Given the description of an element on the screen output the (x, y) to click on. 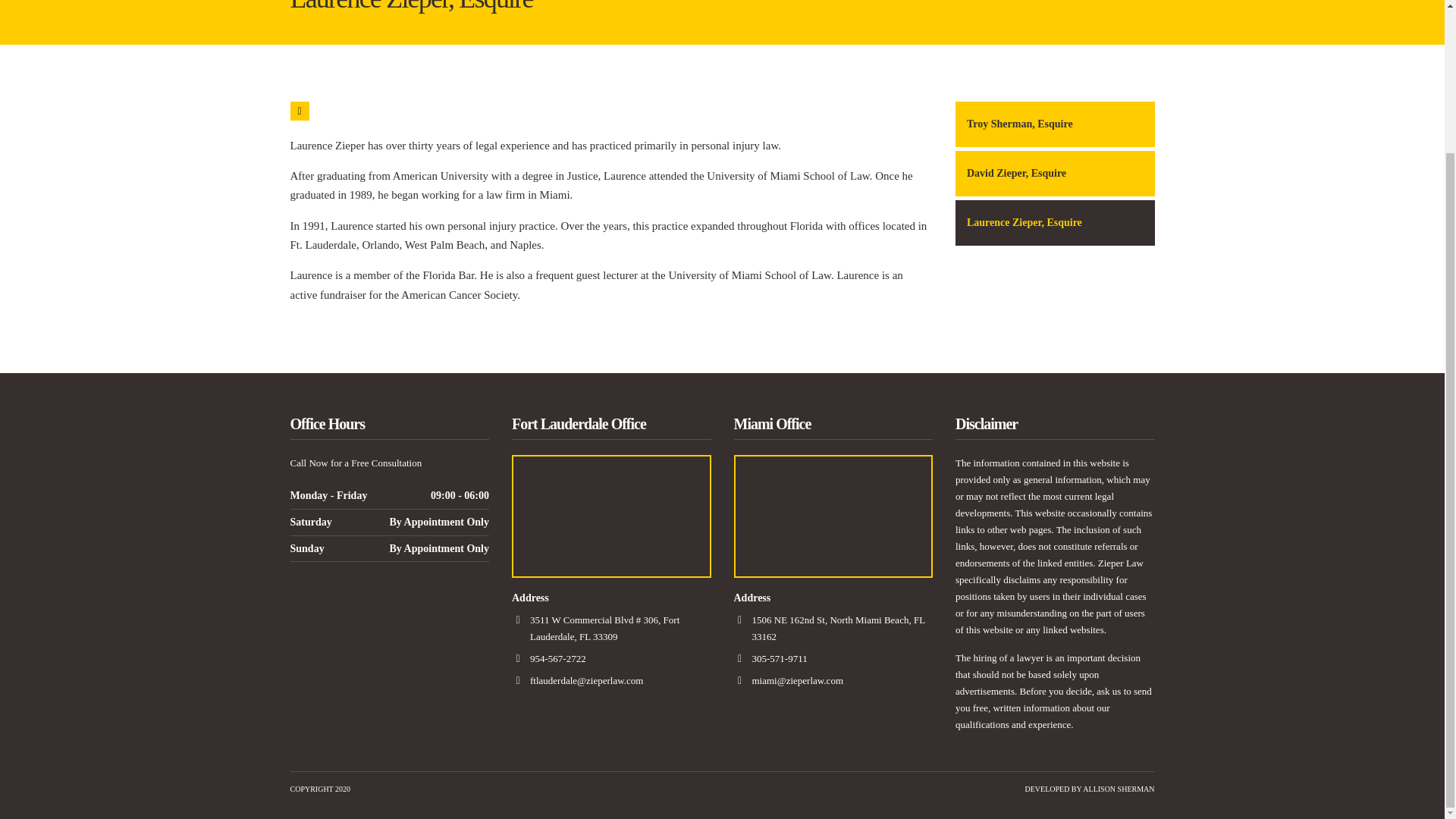
Troy Sherman, Esquire (1054, 124)
David Zieper, Esquire (1054, 173)
Laurence Zieper, Esquire (1054, 222)
